Given the description of an element on the screen output the (x, y) to click on. 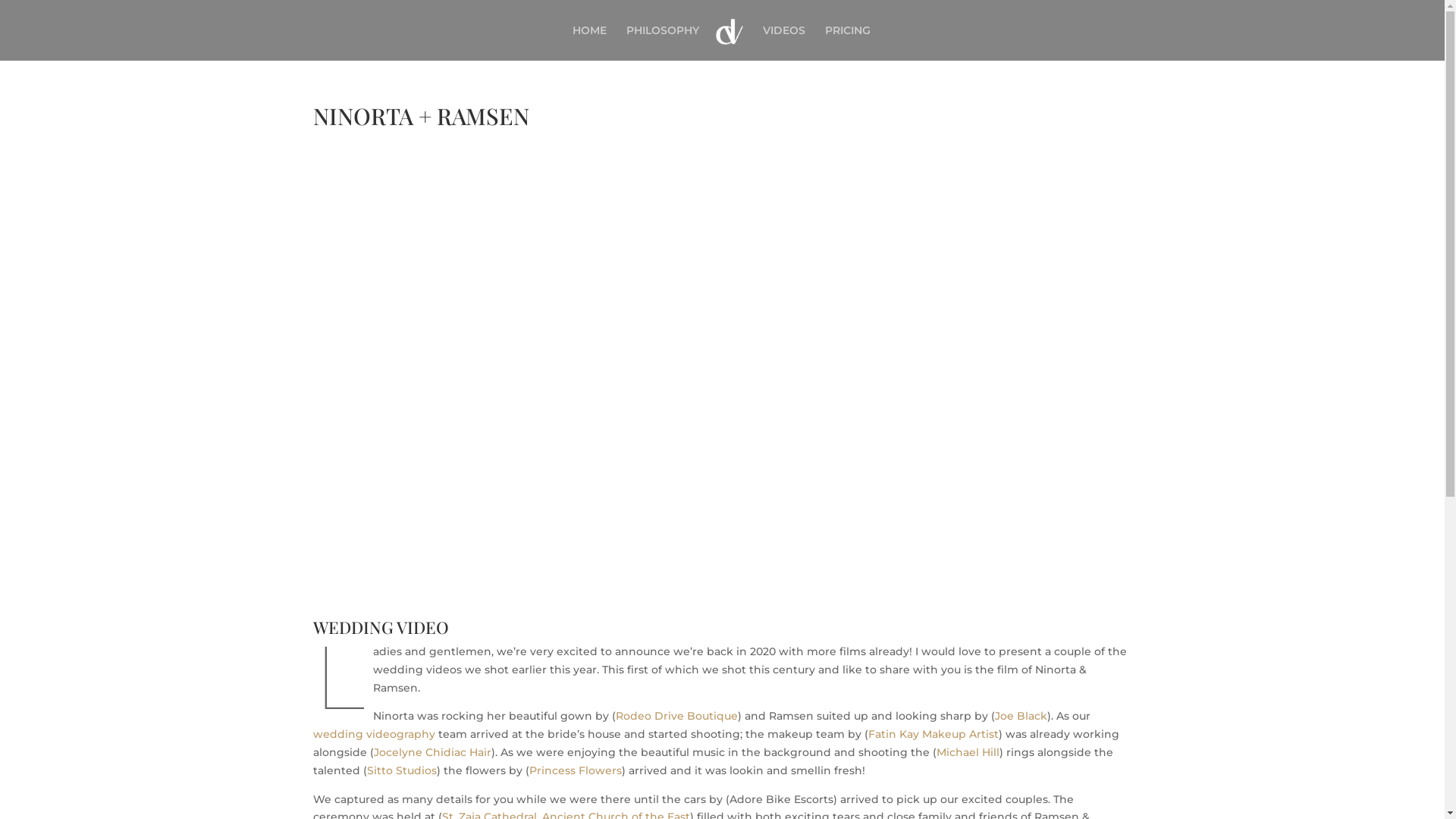
PRICING Element type: text (847, 42)
HOME Element type: text (589, 42)
VIDEOS Element type: text (783, 42)
WEDDING VIDEO Element type: text (380, 626)
PHILOSOPHY Element type: text (662, 42)
Jocelyne Chidiac Hair Element type: text (431, 752)
Fatin Kay Makeup Artist Element type: text (932, 733)
NINORTA + RAMSEN Element type: hover (721, 365)
Rodeo Drive Boutique Element type: text (676, 715)
Sitto Studios Element type: text (401, 770)
Princess Flowers Element type: text (575, 770)
Joe Black Element type: text (1020, 715)
Michael Hill Element type: text (966, 752)
wedding videography Element type: text (373, 733)
